Given the description of an element on the screen output the (x, y) to click on. 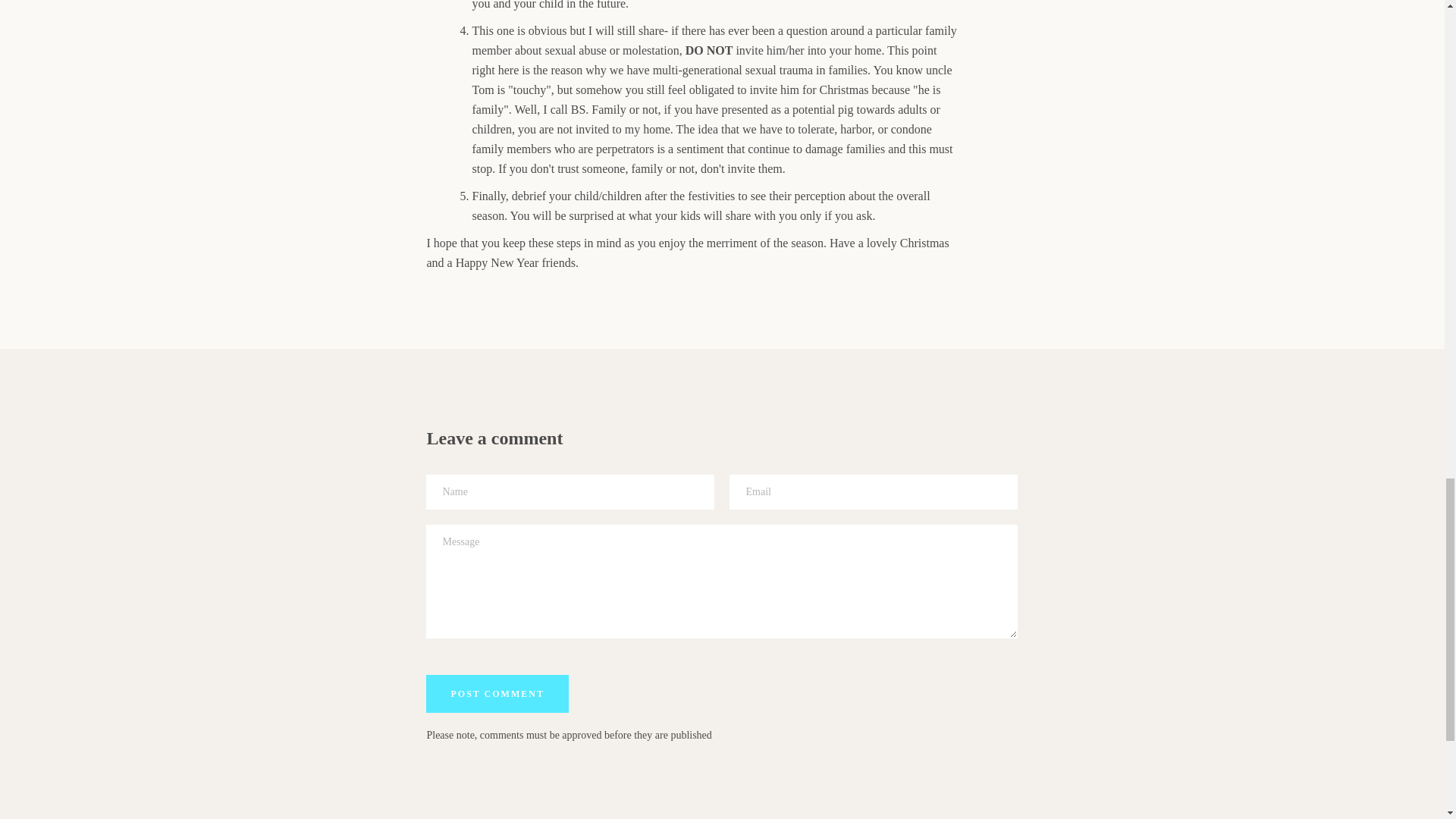
Post comment (496, 693)
Post comment (496, 693)
